Given the description of an element on the screen output the (x, y) to click on. 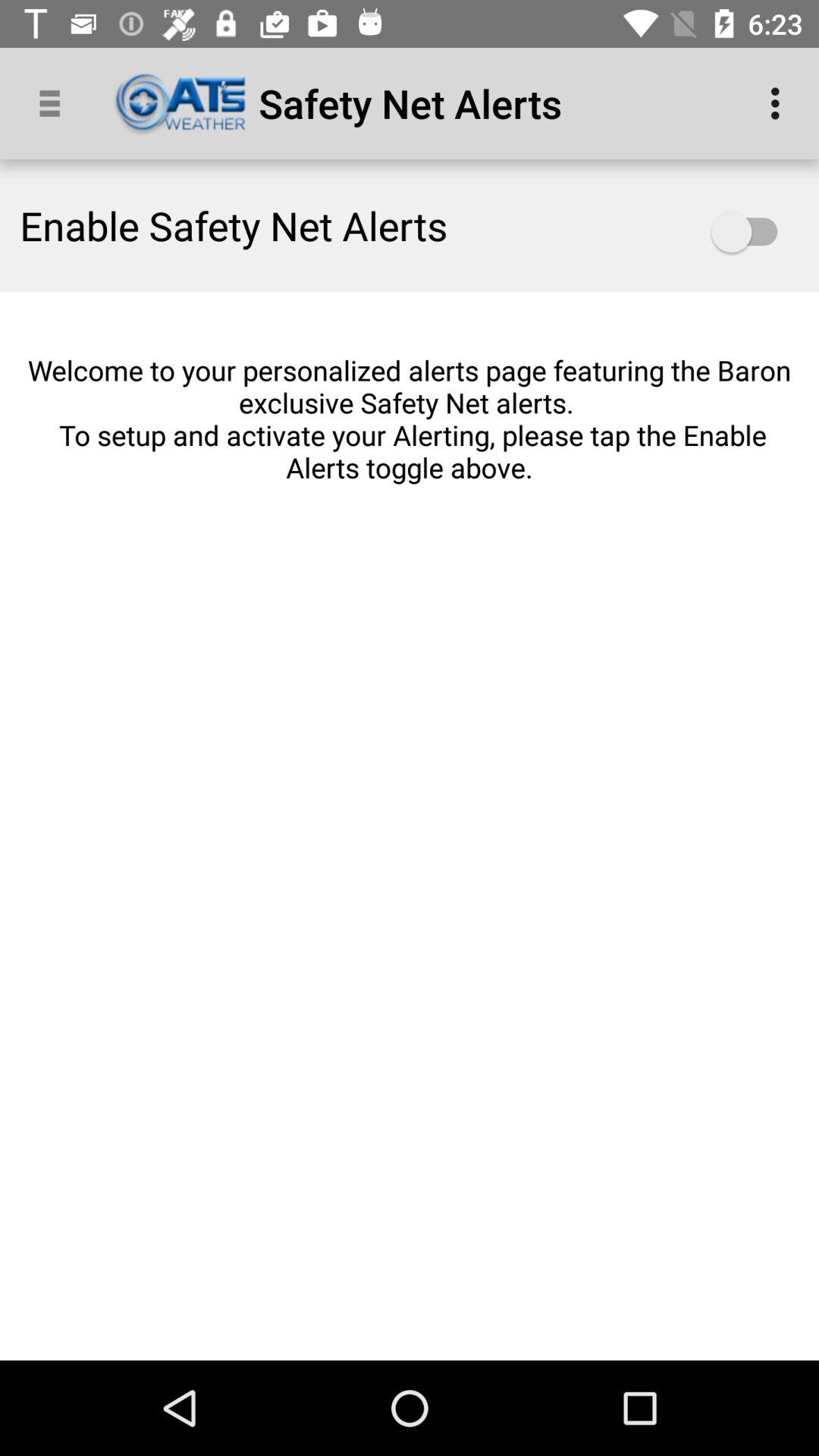
toggle weather-safety alerts (751, 232)
